Given the description of an element on the screen output the (x, y) to click on. 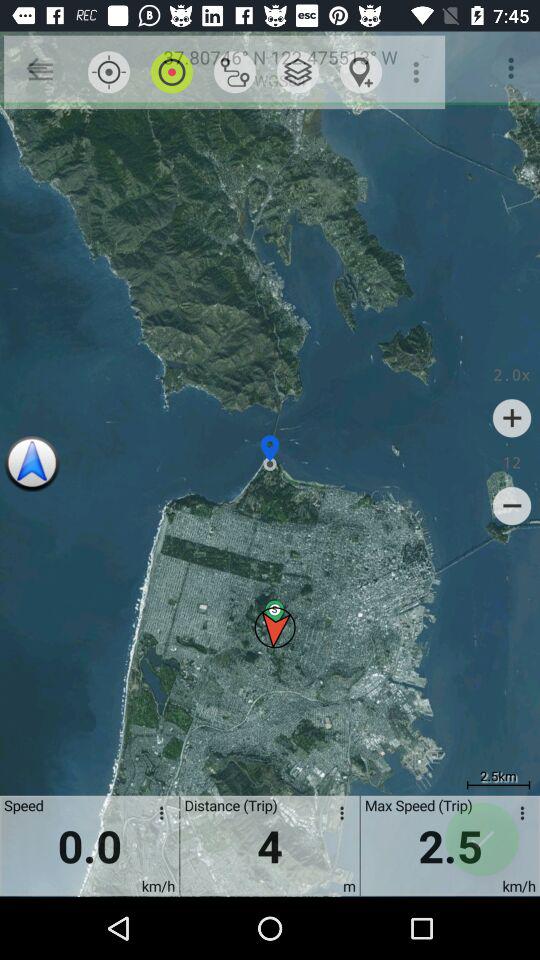
more distance options for trip (338, 816)
